Given the description of an element on the screen output the (x, y) to click on. 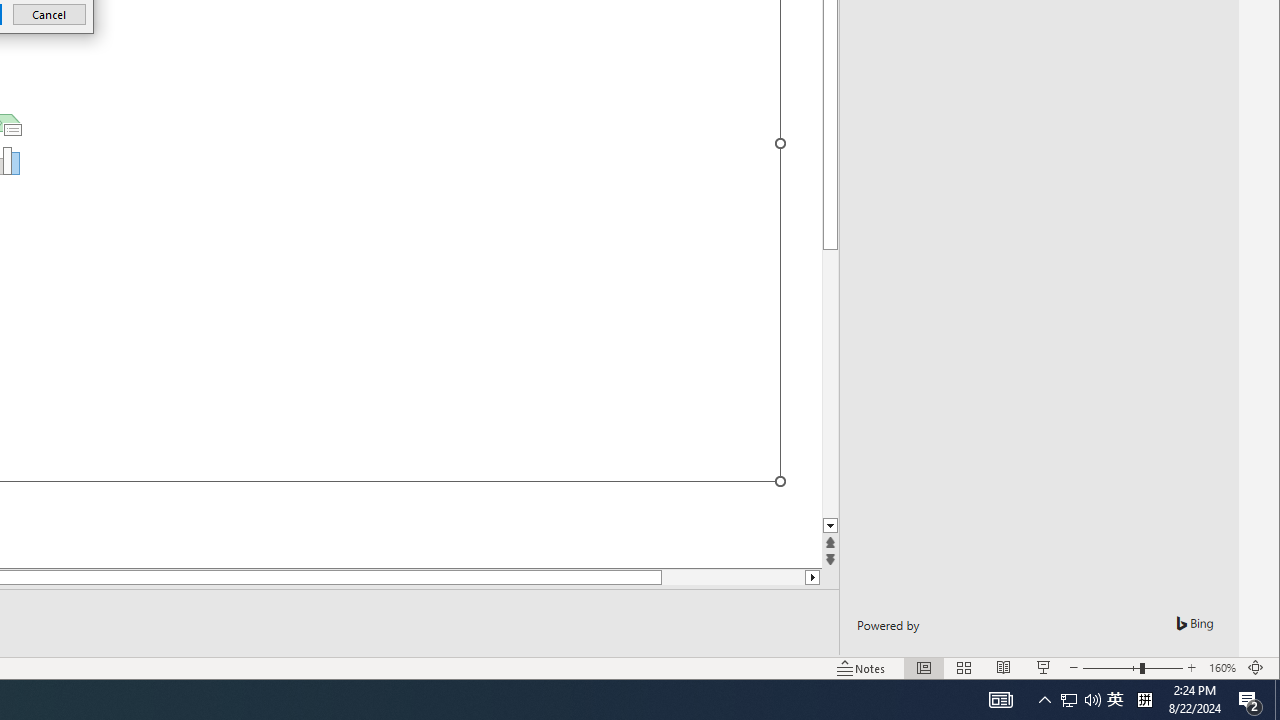
Zoom 160% (1222, 668)
